Given the description of an element on the screen output the (x, y) to click on. 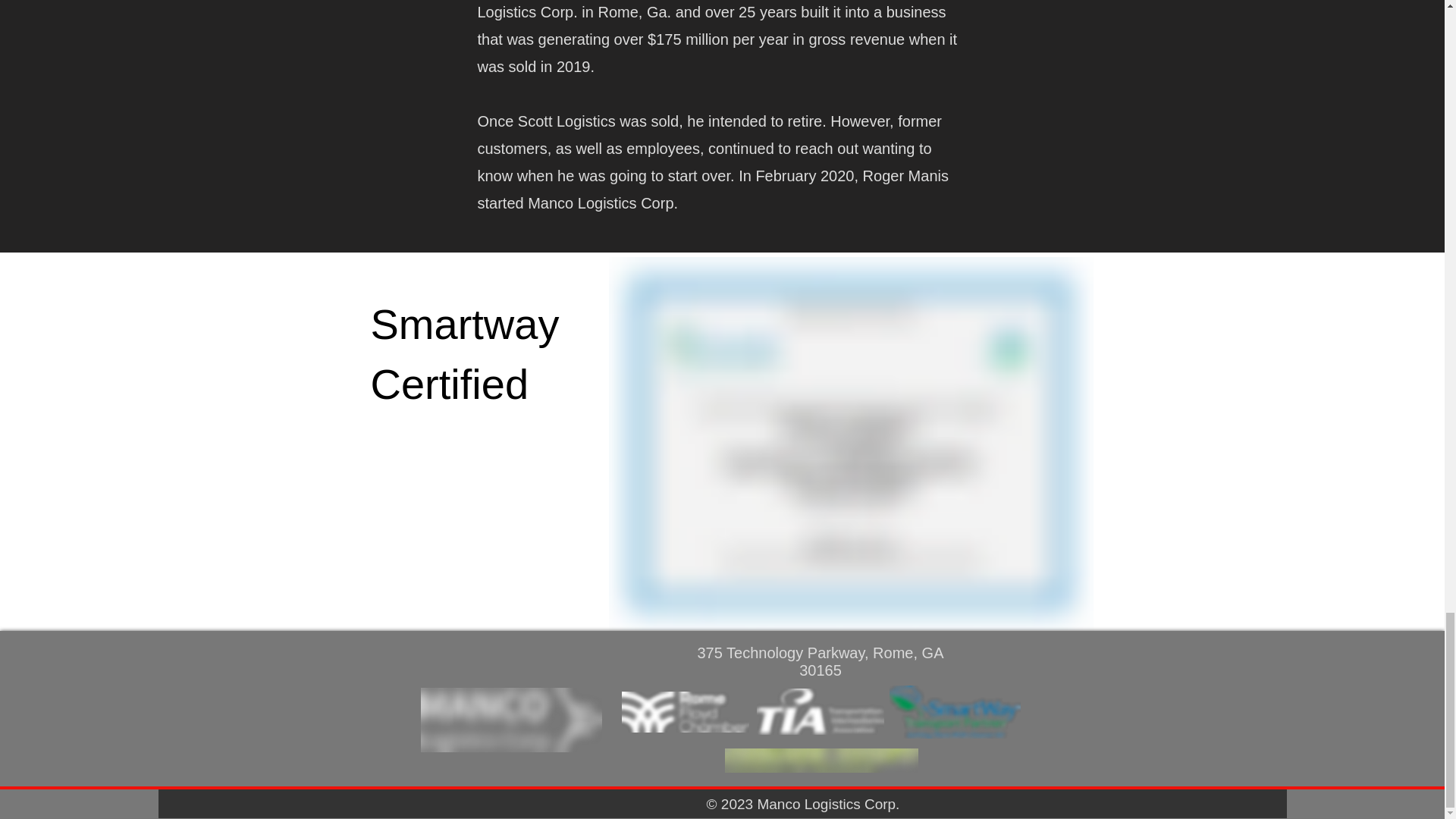
CherokeeCountyChamber.png (821, 760)
TIA.png (820, 711)
RomeFloydChamber.png (685, 711)
SmartWayTransportPartner.png (954, 711)
